Given the description of an element on the screen output the (x, y) to click on. 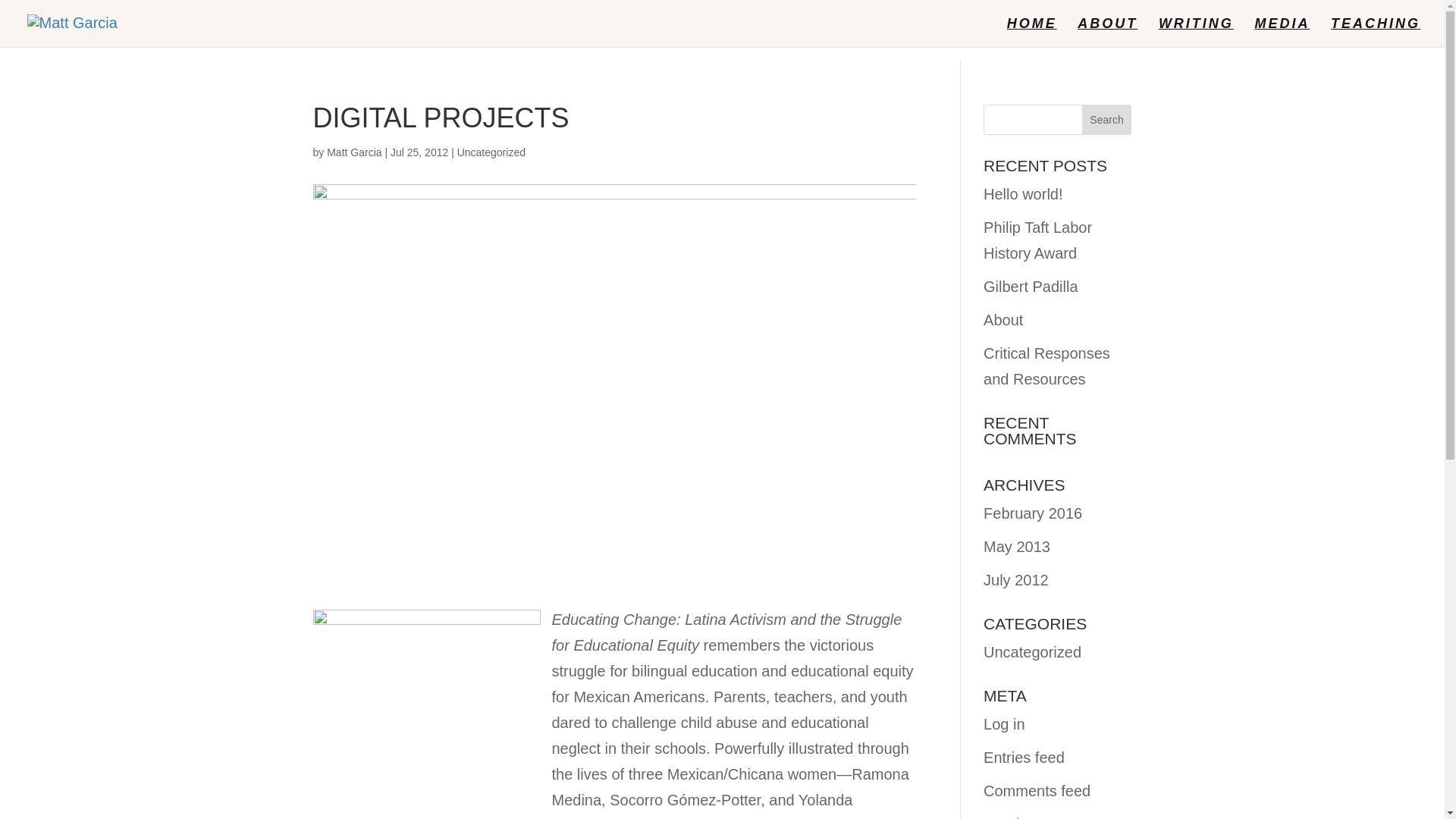
HOME (1032, 32)
Gilbert Padilla (1031, 286)
Entries feed (1024, 757)
July 2012 (1016, 579)
WRITING (1195, 32)
About (1003, 320)
ABOUT (1107, 32)
Philip Taft Labor History Award (1038, 240)
Uncategorized (1032, 651)
MEDIA (1280, 32)
